Given the description of an element on the screen output the (x, y) to click on. 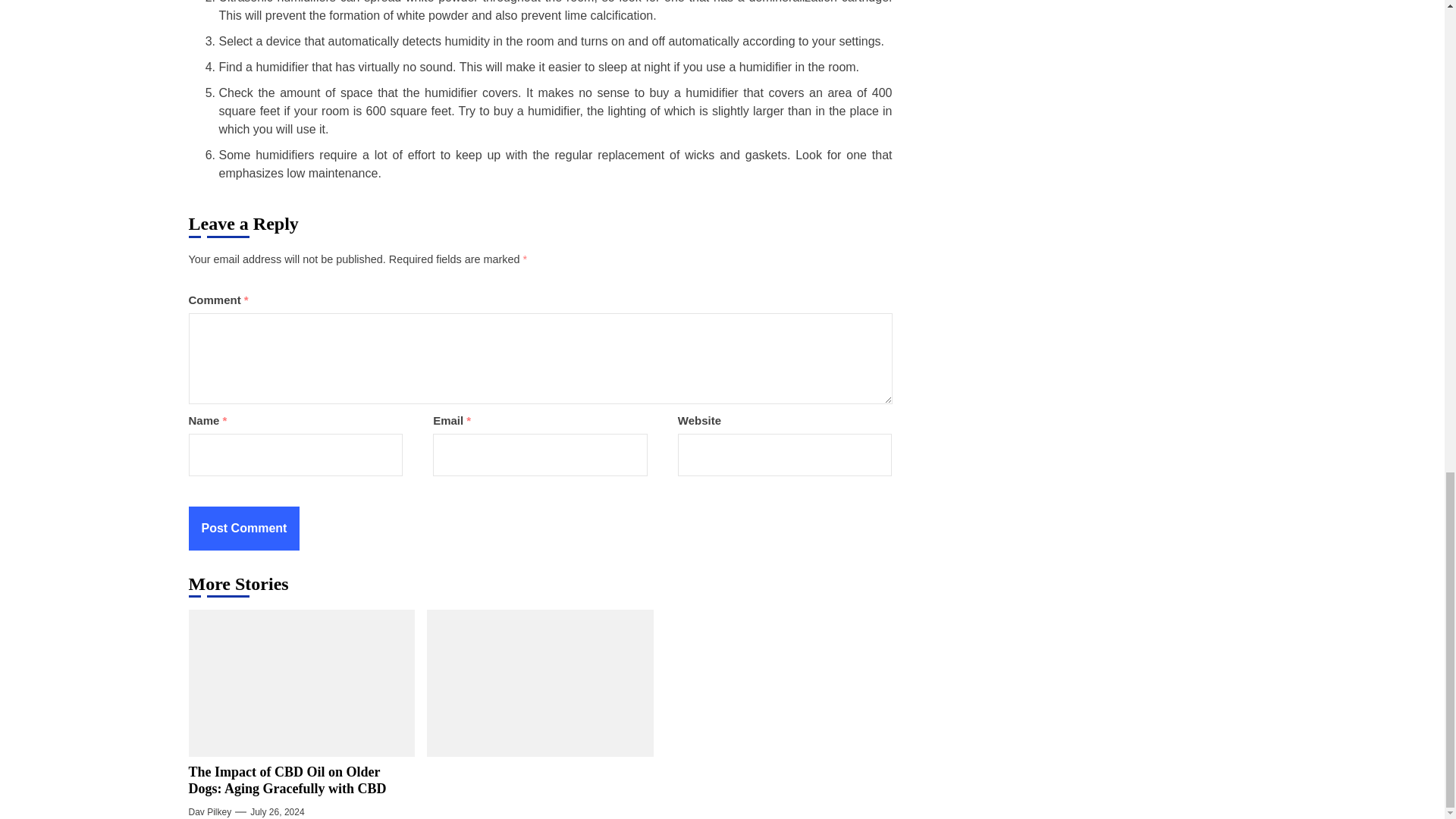
Post Comment (243, 528)
